Given the description of an element on the screen output the (x, y) to click on. 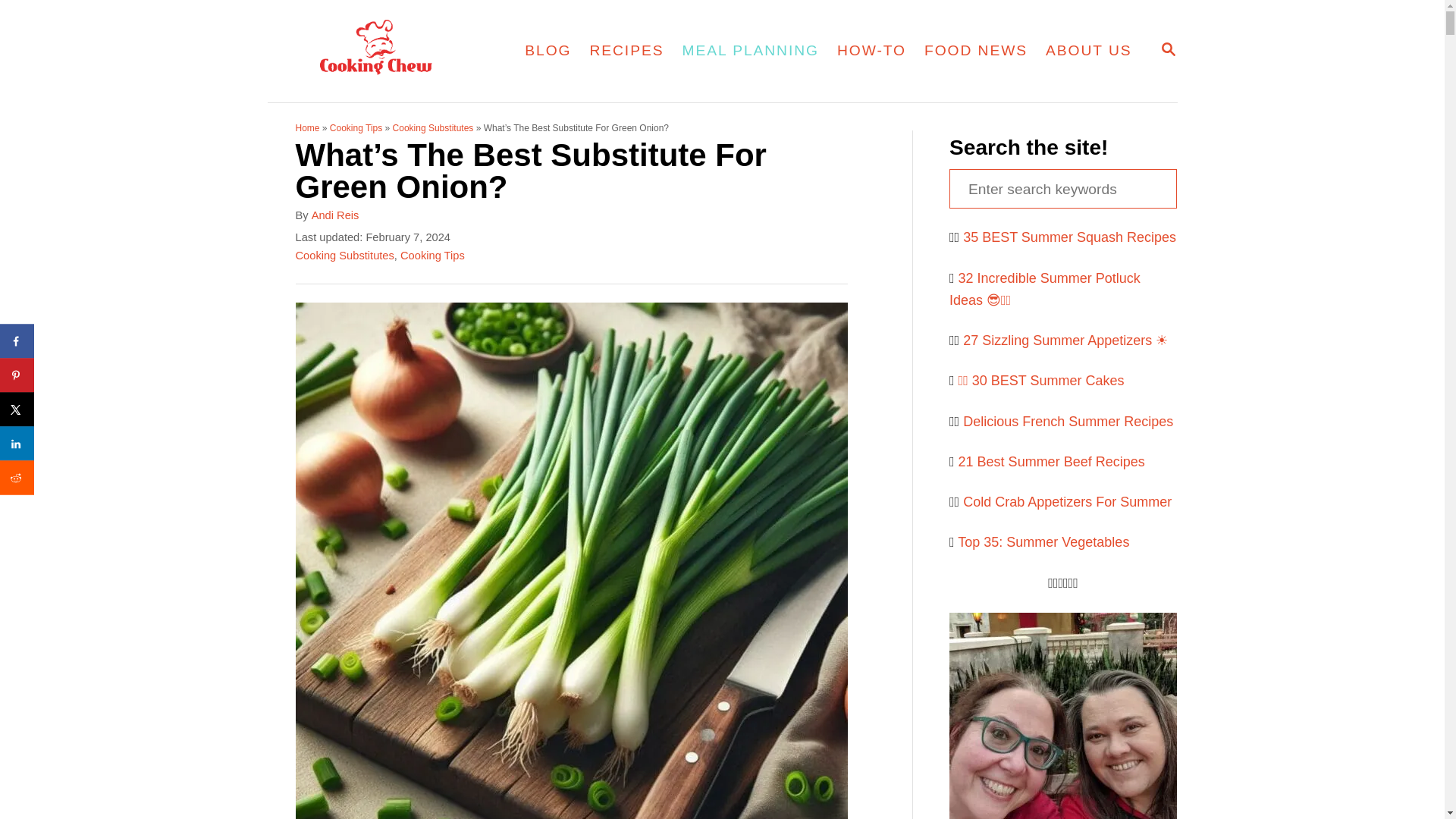
MEAL PLANNING (750, 50)
MAGNIFYING GLASS (1167, 49)
BLOG (547, 50)
RECIPES (625, 50)
Cooking Chew (1167, 50)
